Given the description of an element on the screen output the (x, y) to click on. 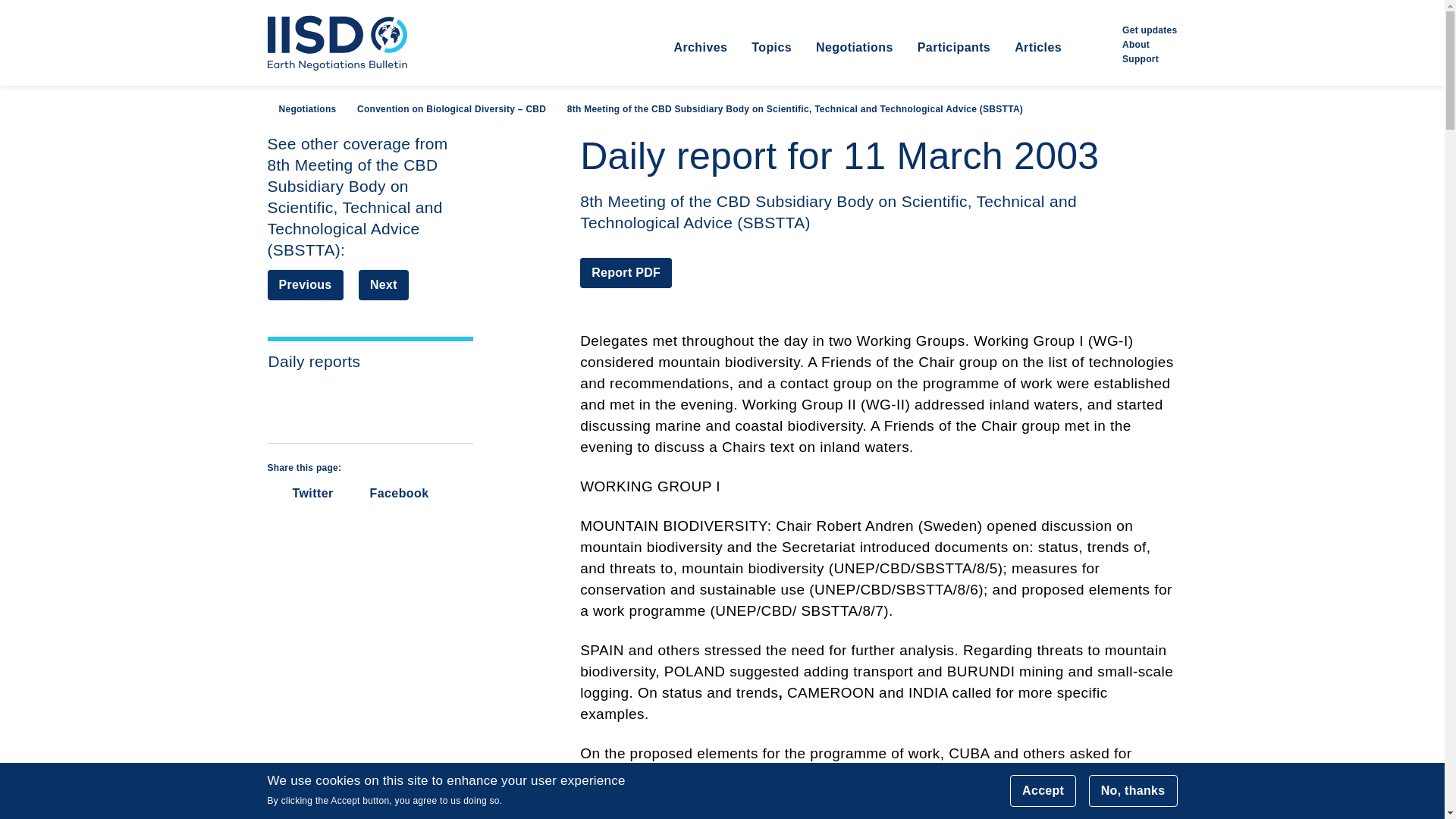
Share via Twitter (299, 493)
Twitter (299, 493)
Previous (304, 285)
Accept (1042, 790)
Participants (953, 62)
Share via Facebook (389, 493)
Archives (699, 62)
Support (1140, 58)
Report PDF (625, 272)
Get updates (1149, 29)
